Given the description of an element on the screen output the (x, y) to click on. 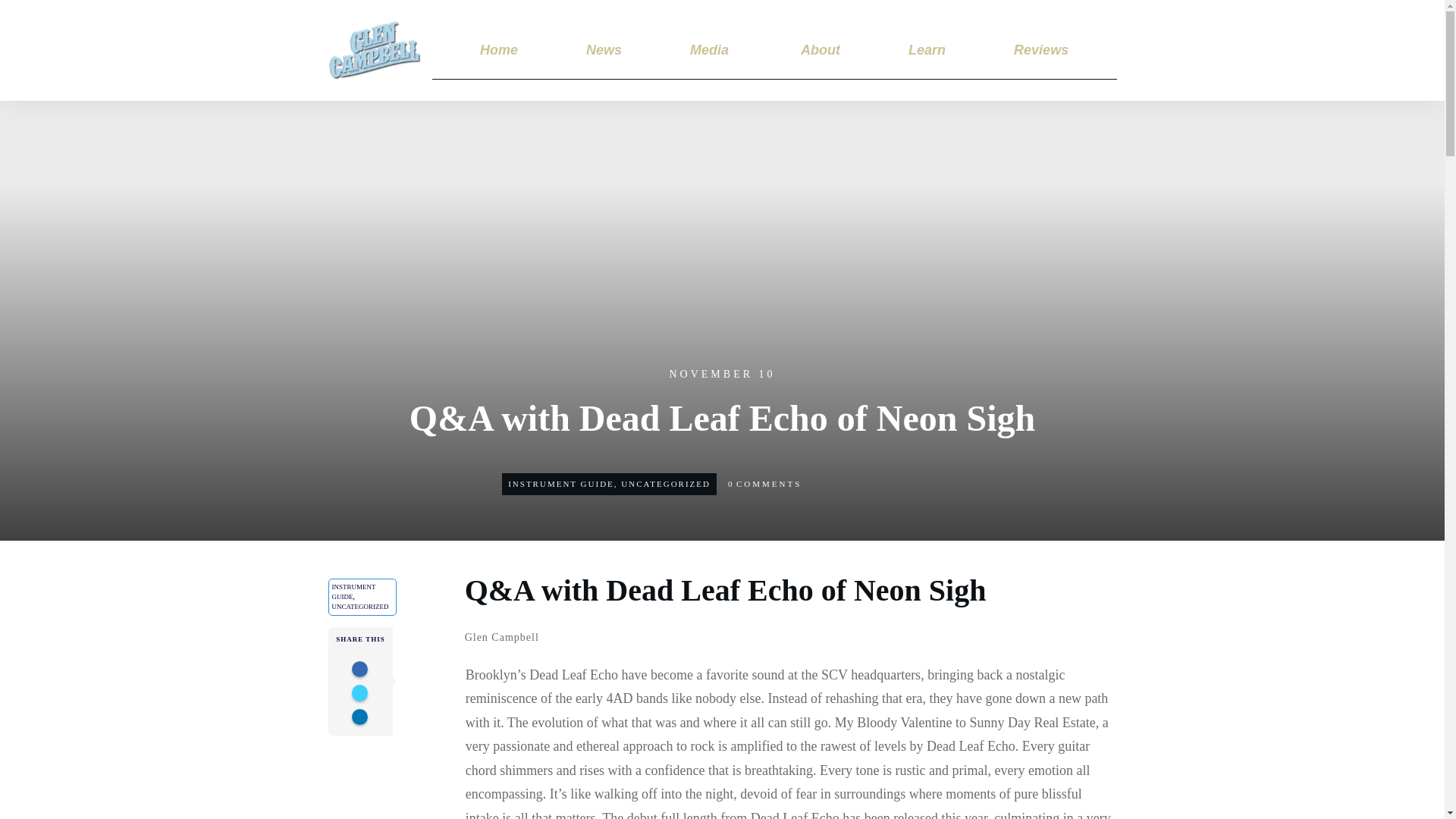
Instrument Guide (353, 591)
INSTRUMENT GUIDE (353, 591)
UNCATEGORIZED (665, 483)
Instrument Guide (561, 483)
News (603, 49)
Uncategorized (665, 483)
Learn (926, 49)
Uncategorized (359, 606)
UNCATEGORIZED (359, 606)
Media (709, 49)
